Given the description of an element on the screen output the (x, y) to click on. 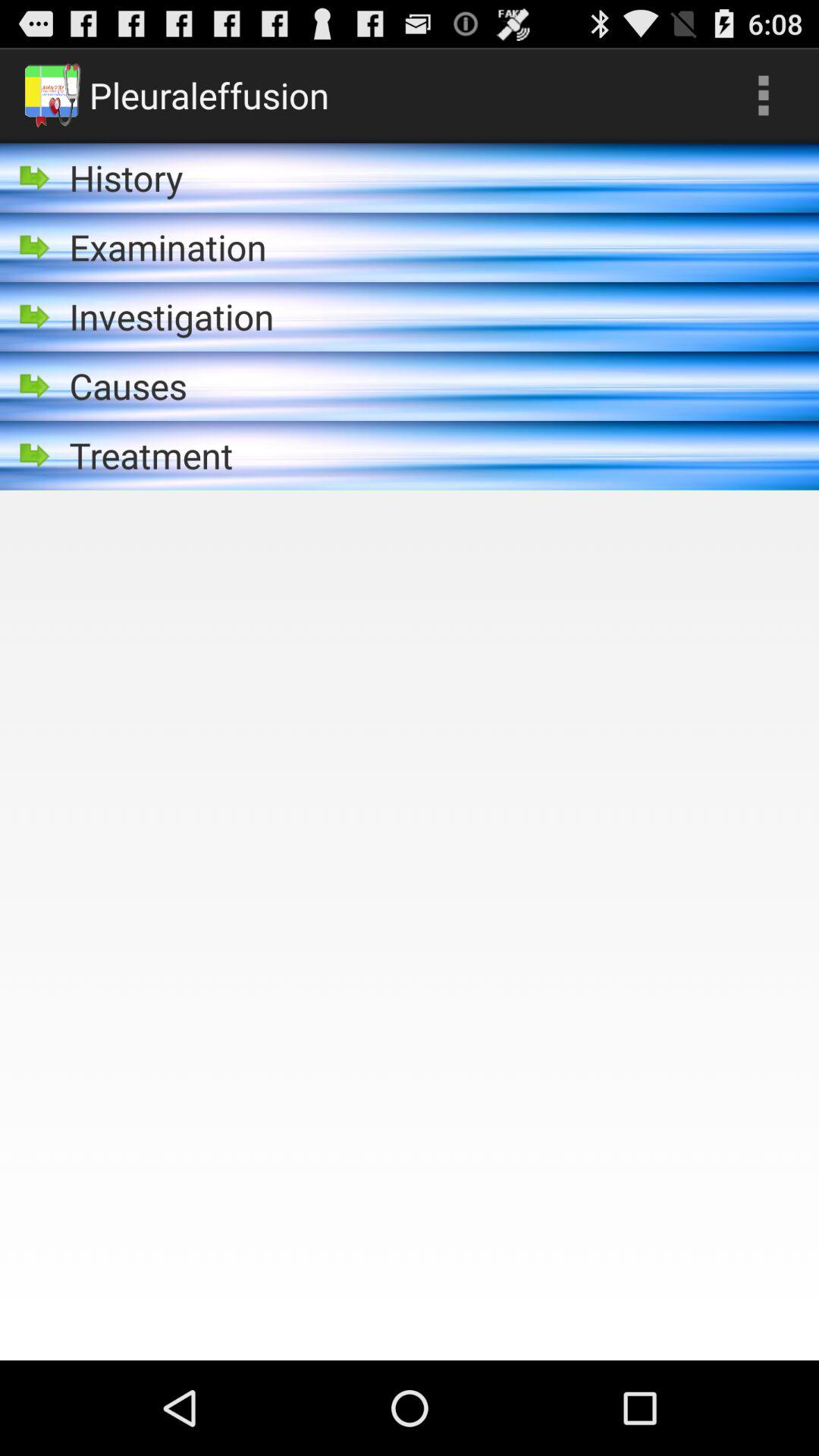
turn on item to the right of pleuraleffusion icon (763, 95)
